Given the description of an element on the screen output the (x, y) to click on. 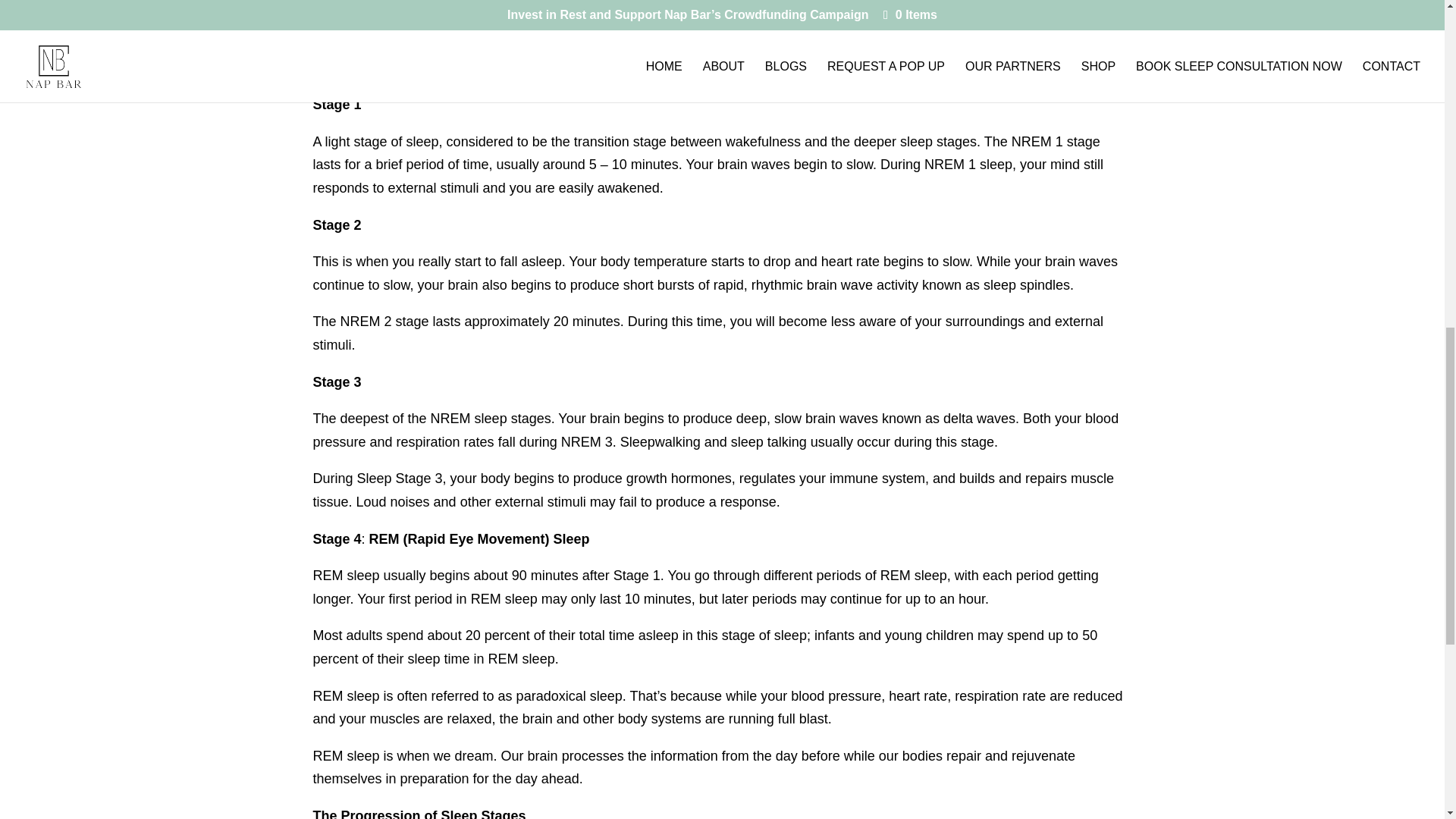
sleep stages (967, 68)
two kinds of sleep (749, 44)
